Given the description of an element on the screen output the (x, y) to click on. 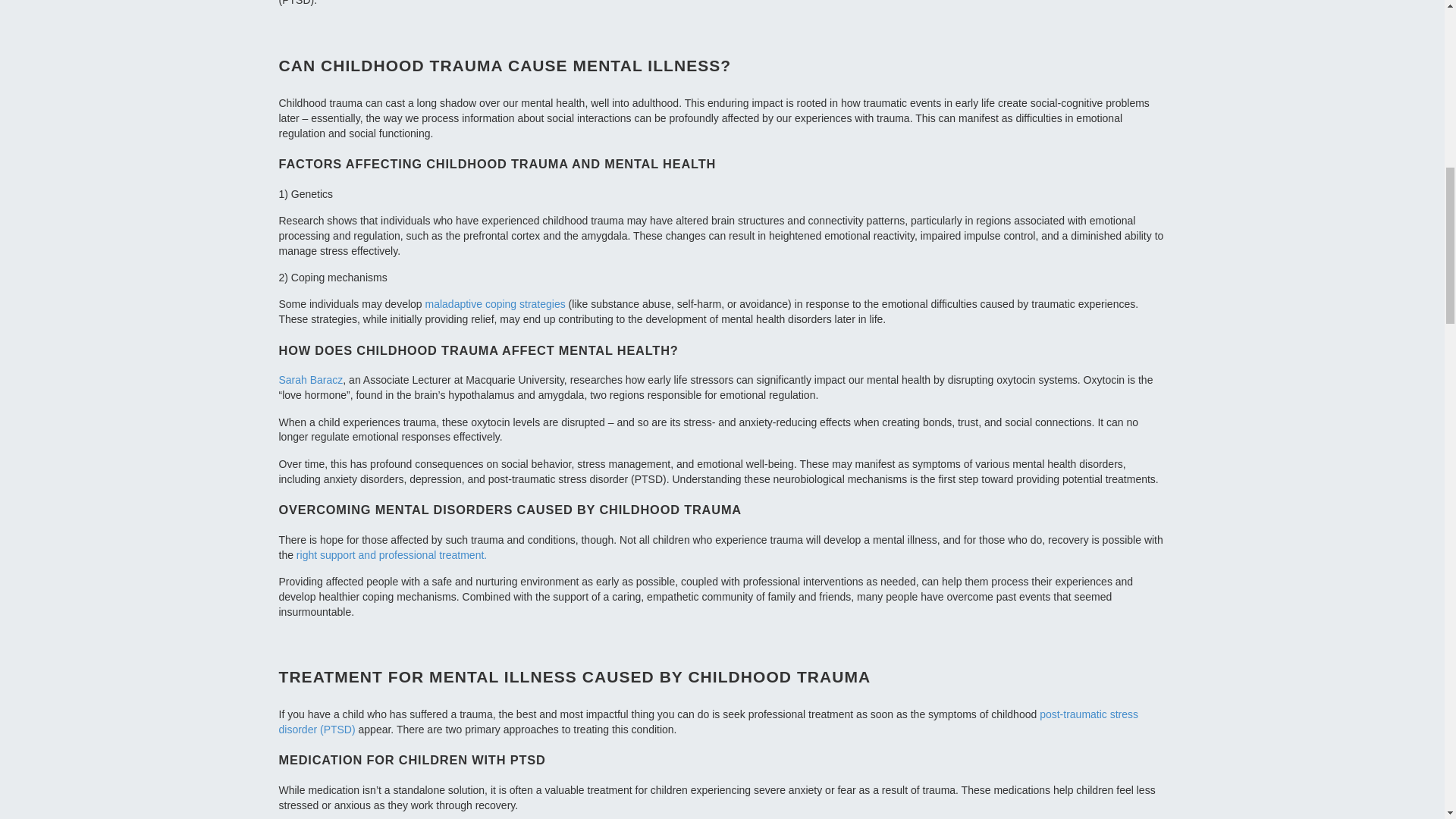
right support and professional treatment. (391, 554)
maladaptive coping strategies (494, 304)
Sarah Baracz (311, 379)
